Given the description of an element on the screen output the (x, y) to click on. 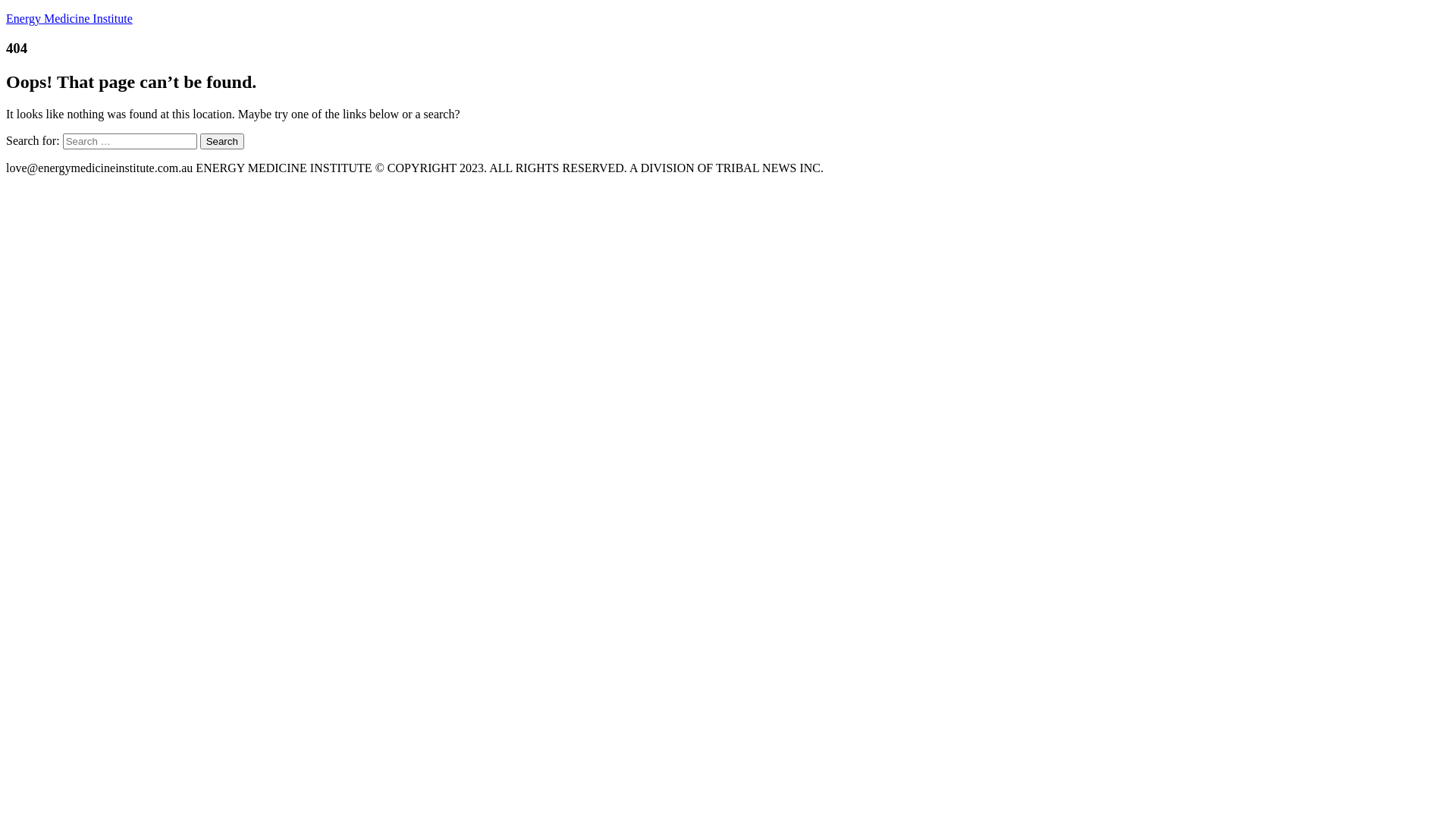
Search Element type: text (222, 141)
Energy Medicine Institute Element type: text (69, 18)
